Given the description of an element on the screen output the (x, y) to click on. 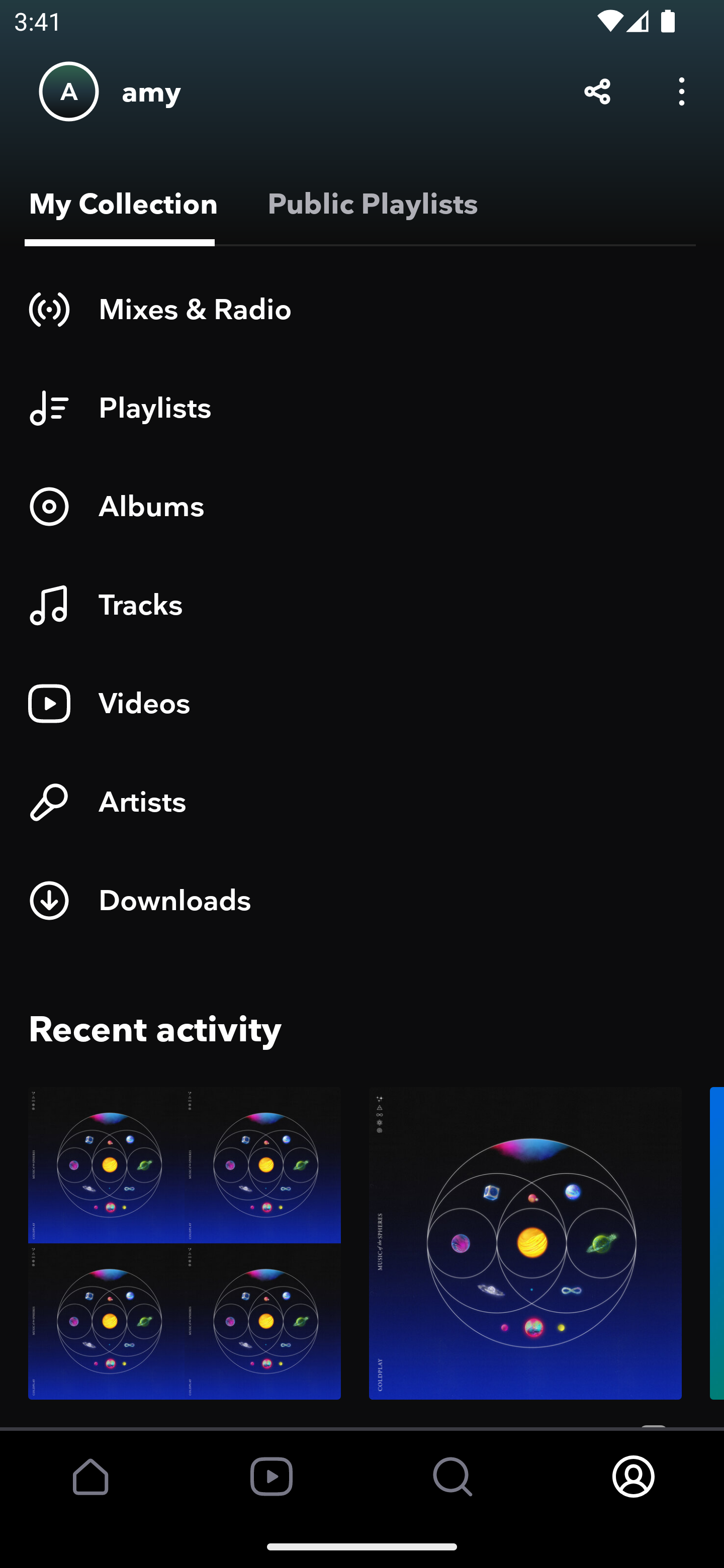
Share (597, 90)
Options (681, 90)
Public Playlists (369, 203)
Mixes & Radio (362, 309)
Playlists (362, 408)
Albums (362, 506)
Tracks (362, 604)
Videos (362, 702)
Artists (362, 801)
Downloads (362, 900)
Favourite Music (184, 1256)
Music Of The Spheres (525, 1256)
